Given the description of an element on the screen output the (x, y) to click on. 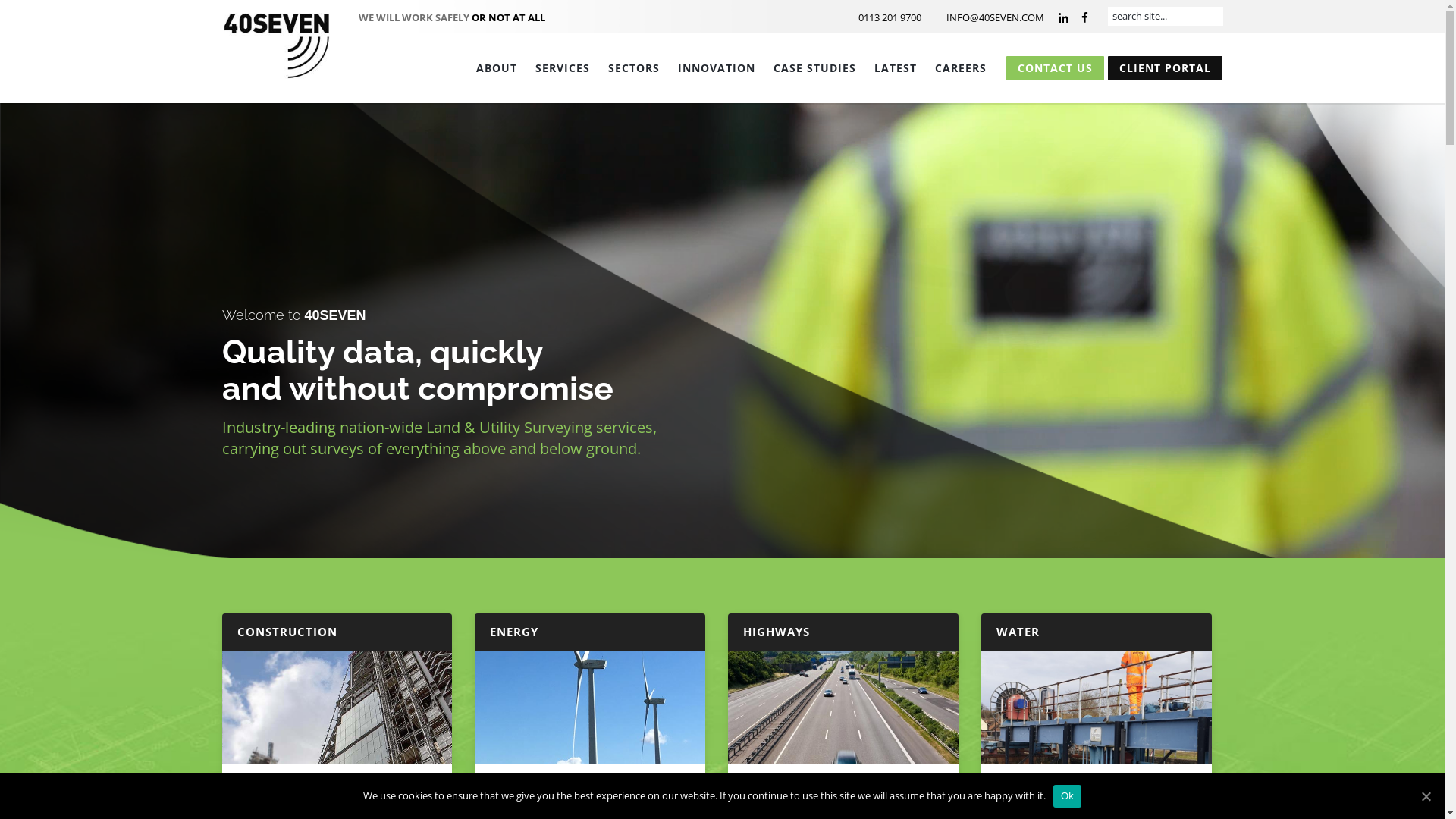
CONTACT US Element type: text (1054, 68)
CLIENT PORTAL Element type: text (1164, 68)
LATEST Element type: text (894, 68)
SERVICES Element type: text (562, 68)
Go Element type: text (10, 9)
Ok Element type: text (1067, 795)
CASE STUDIES Element type: text (814, 68)
INFO@40SEVEN.COM Element type: text (988, 16)
ABOUT Element type: text (496, 68)
CAREERS Element type: text (959, 68)
0113 201 9700 Element type: text (882, 16)
SECTORS Element type: text (633, 68)
INNOVATION Element type: text (716, 68)
